Given the description of an element on the screen output the (x, y) to click on. 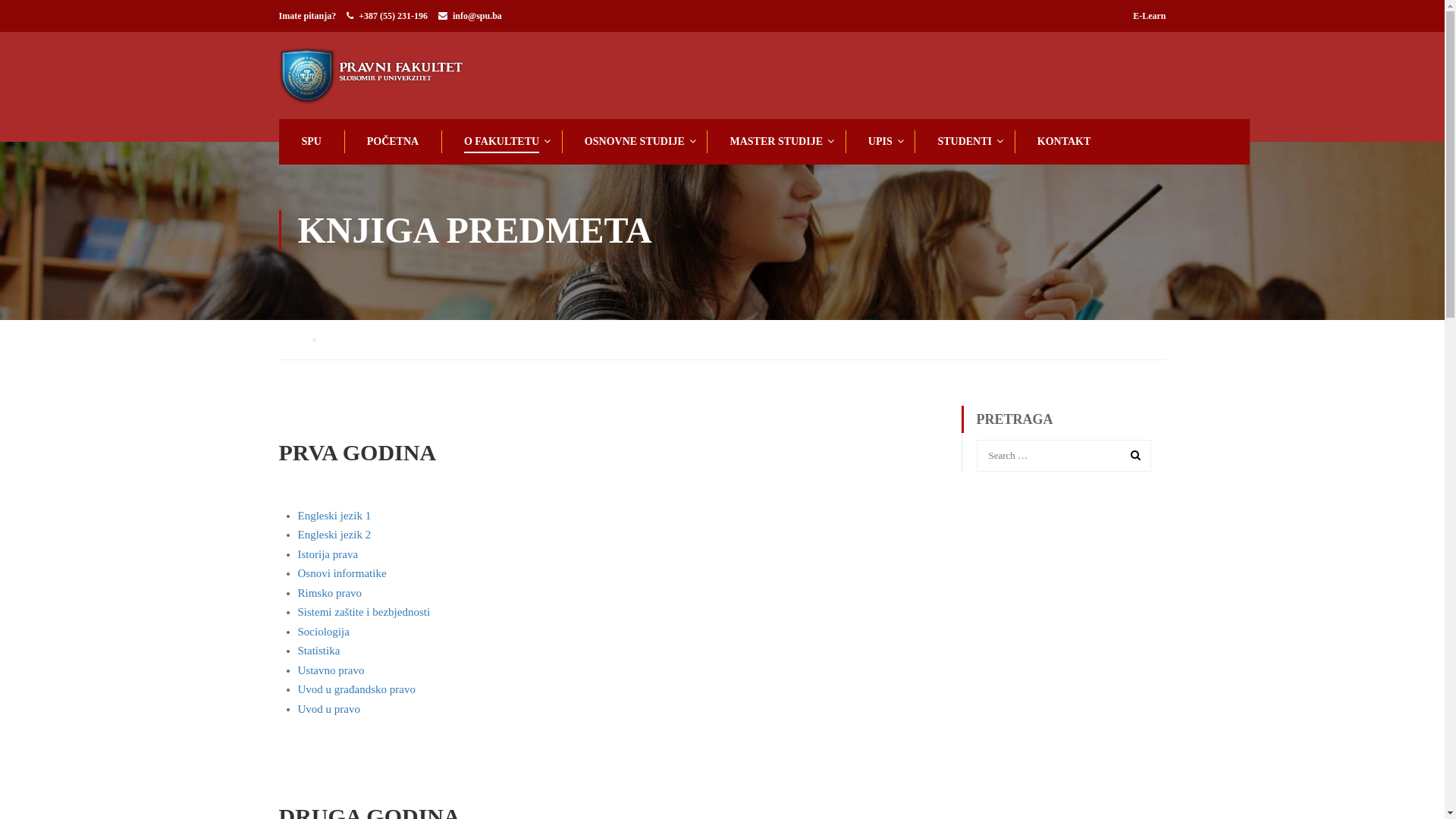
Search Element type: text (1132, 454)
MASTER STUDIJE Element type: text (774, 141)
Statistika Element type: text (318, 650)
+387 (55) 231-196 Element type: text (392, 15)
STUDENTI Element type: text (962, 141)
E-Learn Element type: text (1148, 15)
Pravni fakultet - Slobomir P Univerzitet Element type: hover (388, 75)
info@spu.ba Element type: text (477, 15)
Osnovi informatike Element type: text (341, 573)
Rimsko pravo Element type: text (329, 592)
Ustavno pravo Element type: text (330, 670)
Home Element type: text (297, 338)
KONTAKT Element type: text (1062, 141)
UPIS Element type: text (878, 141)
SPU Element type: text (310, 141)
OSNOVNE STUDIJE Element type: text (632, 141)
Sociologija Element type: text (322, 631)
Istorija prava Element type: text (327, 554)
O FAKULTETU Element type: text (499, 141)
Engleski jezik 1 Element type: text (333, 515)
Engleski jezik 2 Element type: text (333, 534)
Uvod u pravo Element type: text (328, 708)
